Given the description of an element on the screen output the (x, y) to click on. 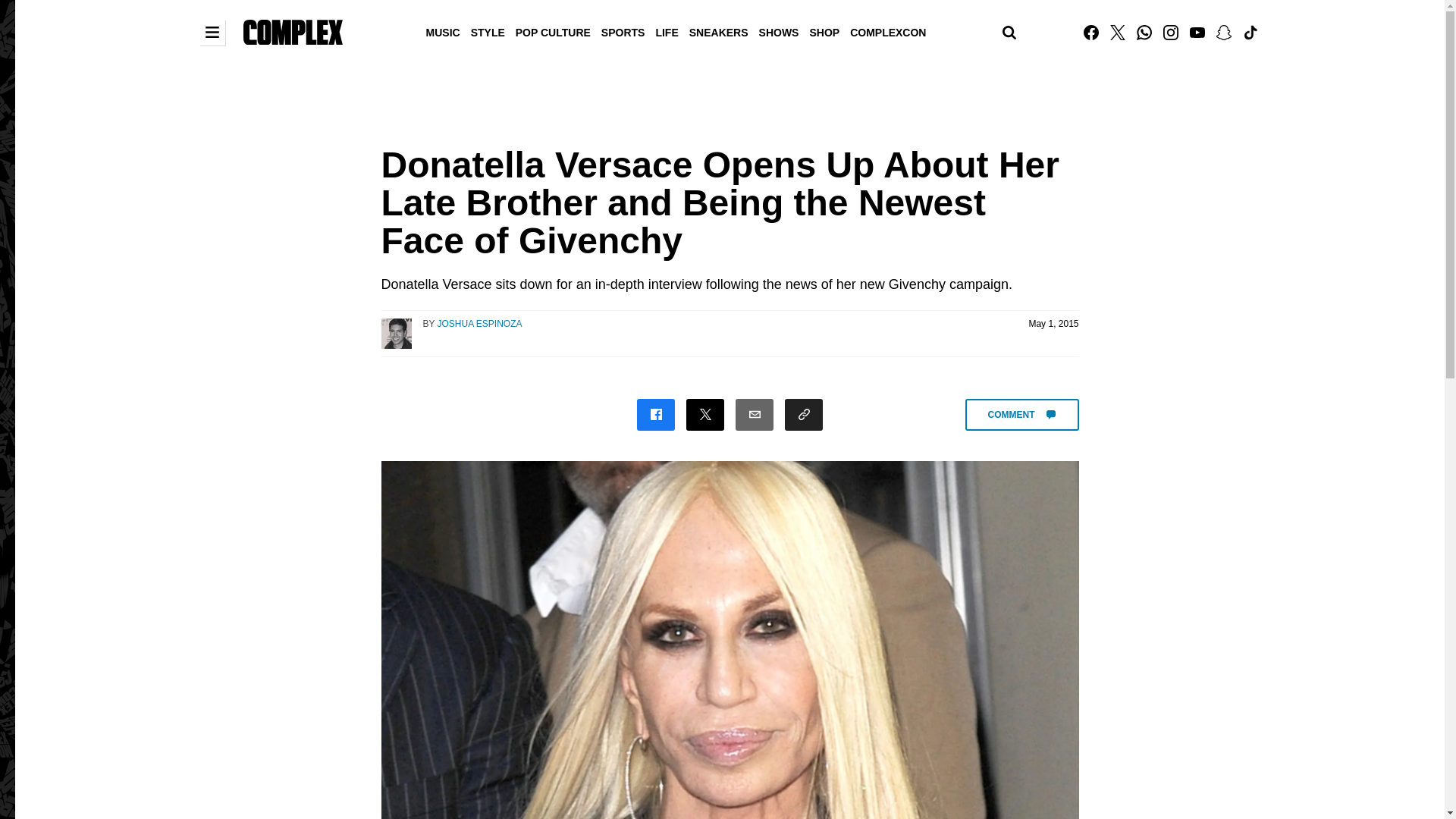
STYLE (488, 30)
SPORTS (622, 30)
COMPLEXCON (887, 30)
SHOWS (779, 30)
SHOP (823, 30)
MUSIC (442, 30)
POP CULTURE (553, 30)
LIFE (665, 30)
SNEAKERS (719, 30)
